Given the description of an element on the screen output the (x, y) to click on. 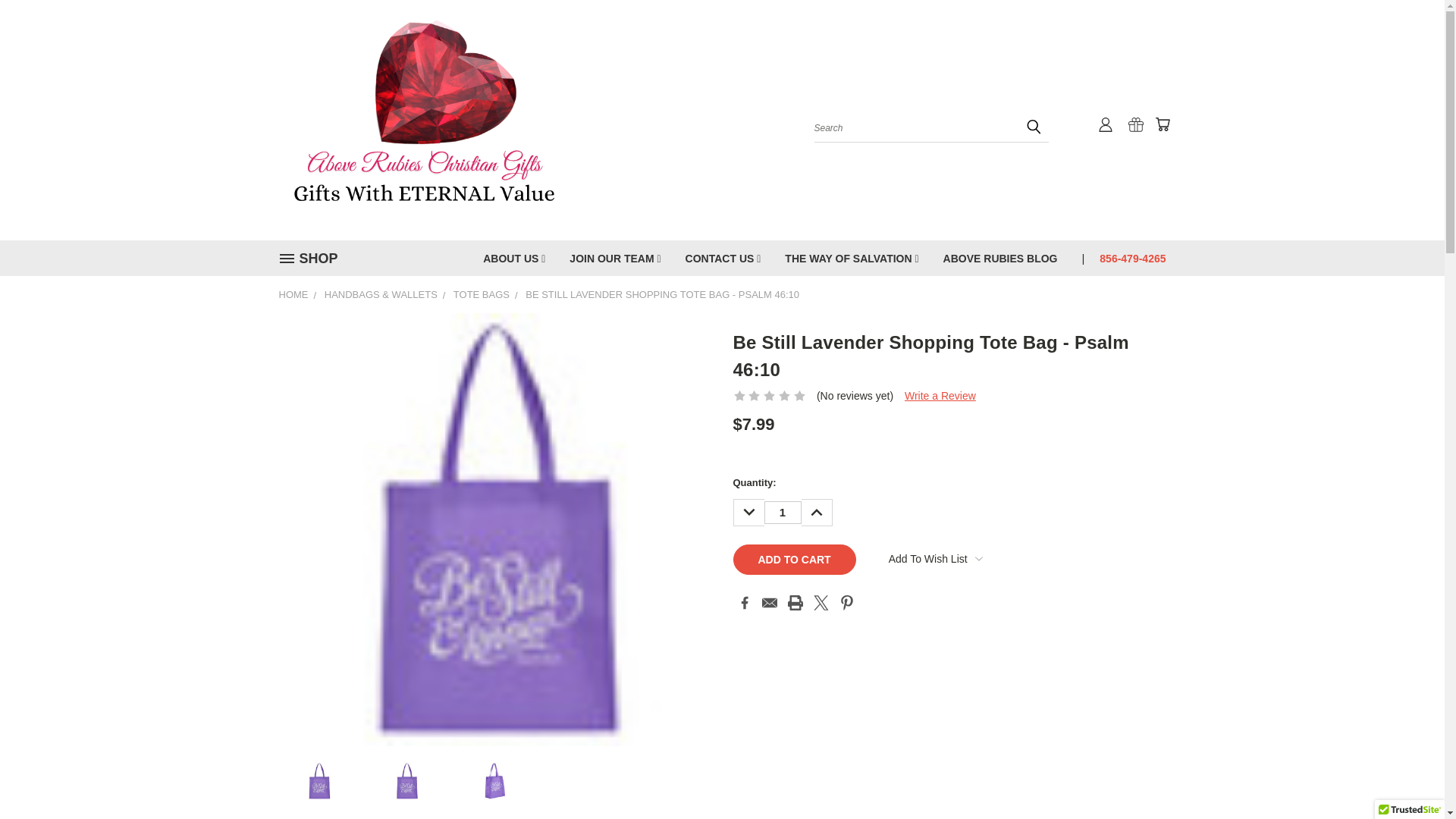
SHOP (314, 258)
Facebook (744, 602)
Add to Cart (794, 559)
submit (1033, 126)
Print (795, 602)
Email (769, 602)
1 (783, 512)
Pinterest (847, 602)
Twitter (820, 602)
Above Rubies Christian Gifts (423, 119)
PayPal Message 1 (938, 446)
